Given the description of an element on the screen output the (x, y) to click on. 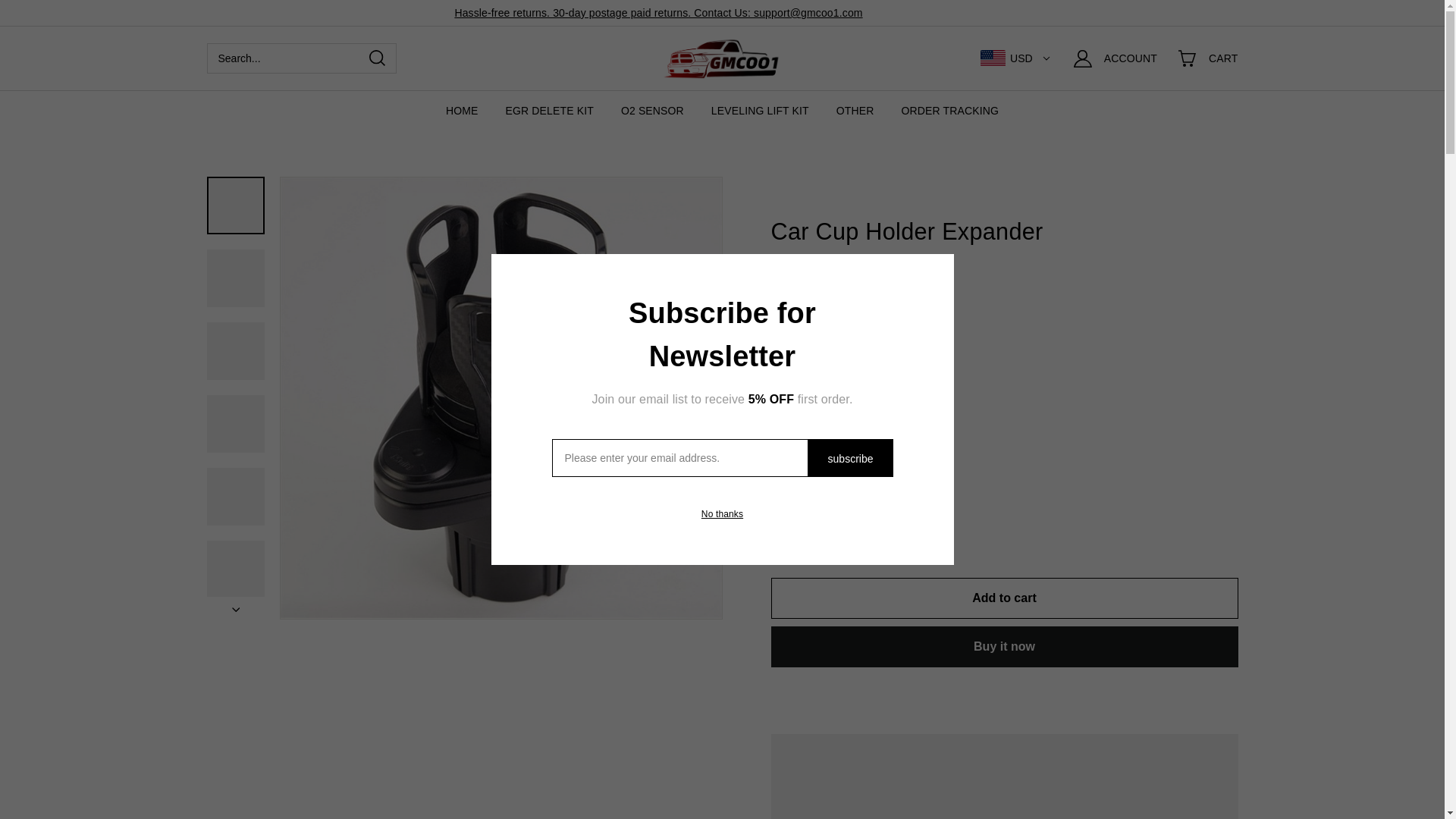
PayPal (1003, 694)
CART (1216, 57)
